Given the description of an element on the screen output the (x, y) to click on. 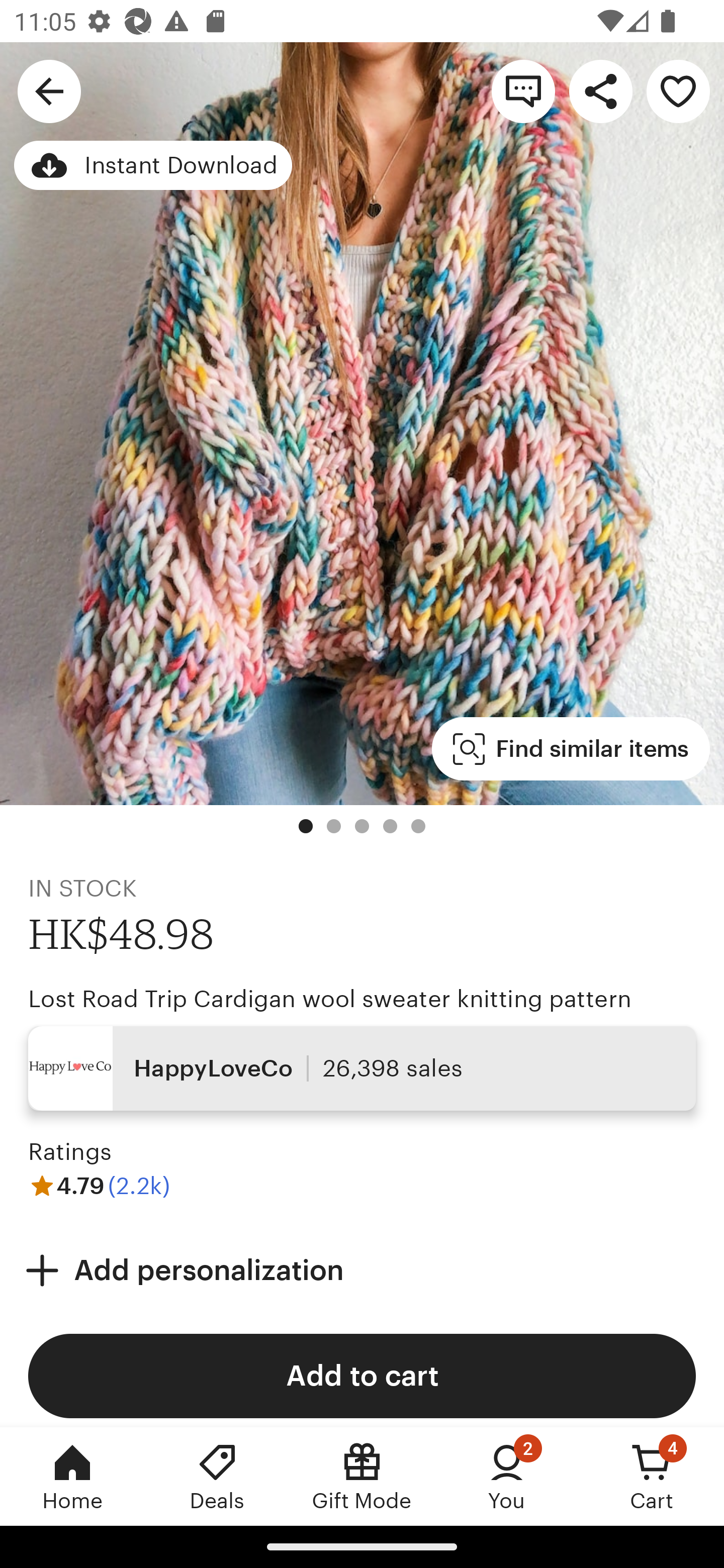
Navigate up (49, 90)
Contact shop (523, 90)
Share (600, 90)
Find similar items (571, 748)
HappyLoveCo 26,398 sales (361, 1067)
Ratings (70, 1151)
4.79 (2.2k) (99, 1185)
Add personalization Add personalization Required (362, 1269)
Add to cart (361, 1375)
Deals (216, 1475)
Gift Mode (361, 1475)
You, 2 new notifications You (506, 1475)
Cart, 4 new notifications Cart (651, 1475)
